Given the description of an element on the screen output the (x, y) to click on. 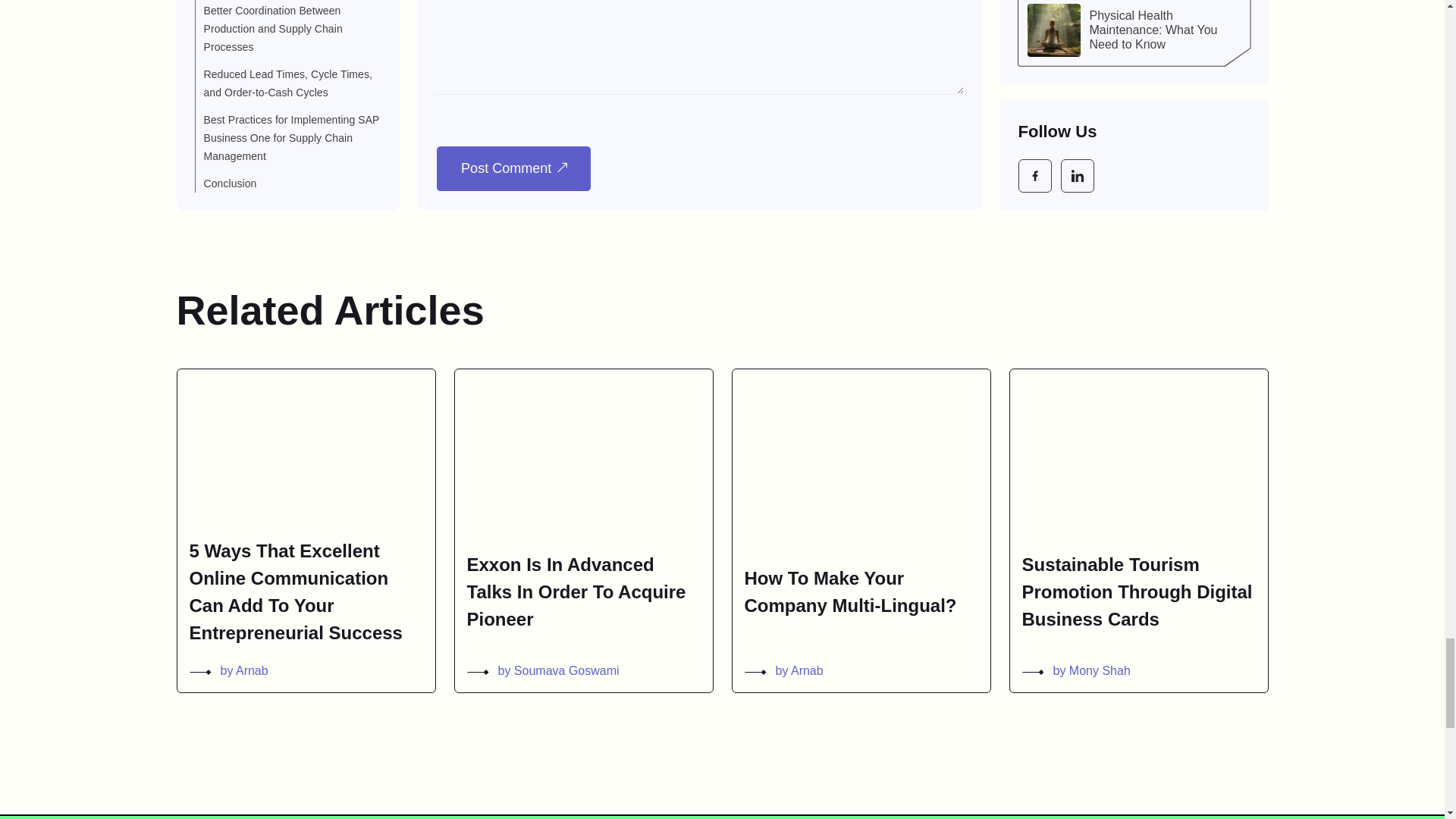
Post Comment (513, 168)
